Given the description of an element on the screen output the (x, y) to click on. 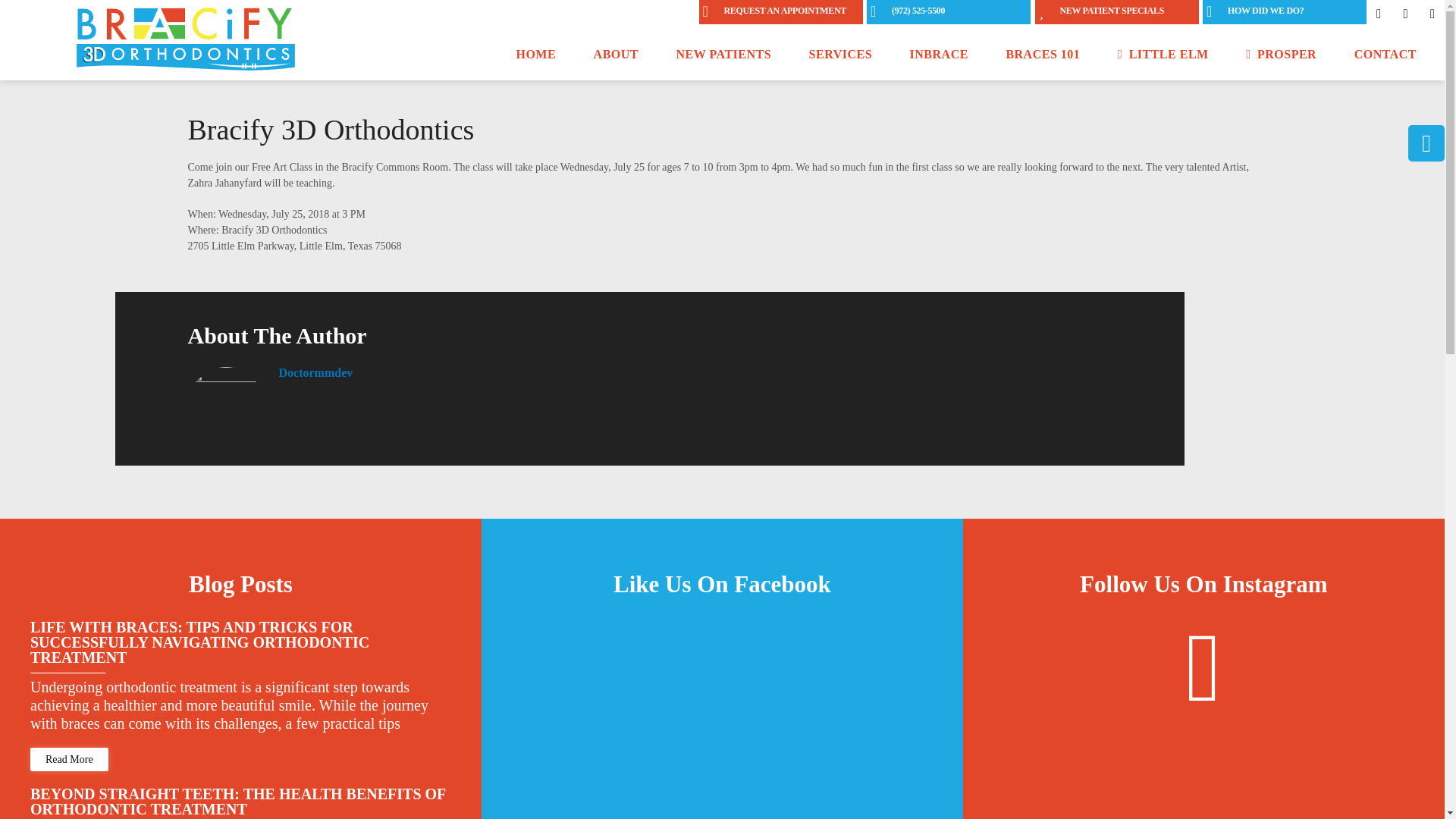
NEW PATIENTS (724, 60)
HOME (535, 60)
NEW PATIENT SPECIALS (1115, 12)
REQUEST AN APPOINTMENT (780, 12)
SERVICES (840, 60)
ABOUT (616, 60)
HOW DID WE DO? (1284, 12)
